Given the description of an element on the screen output the (x, y) to click on. 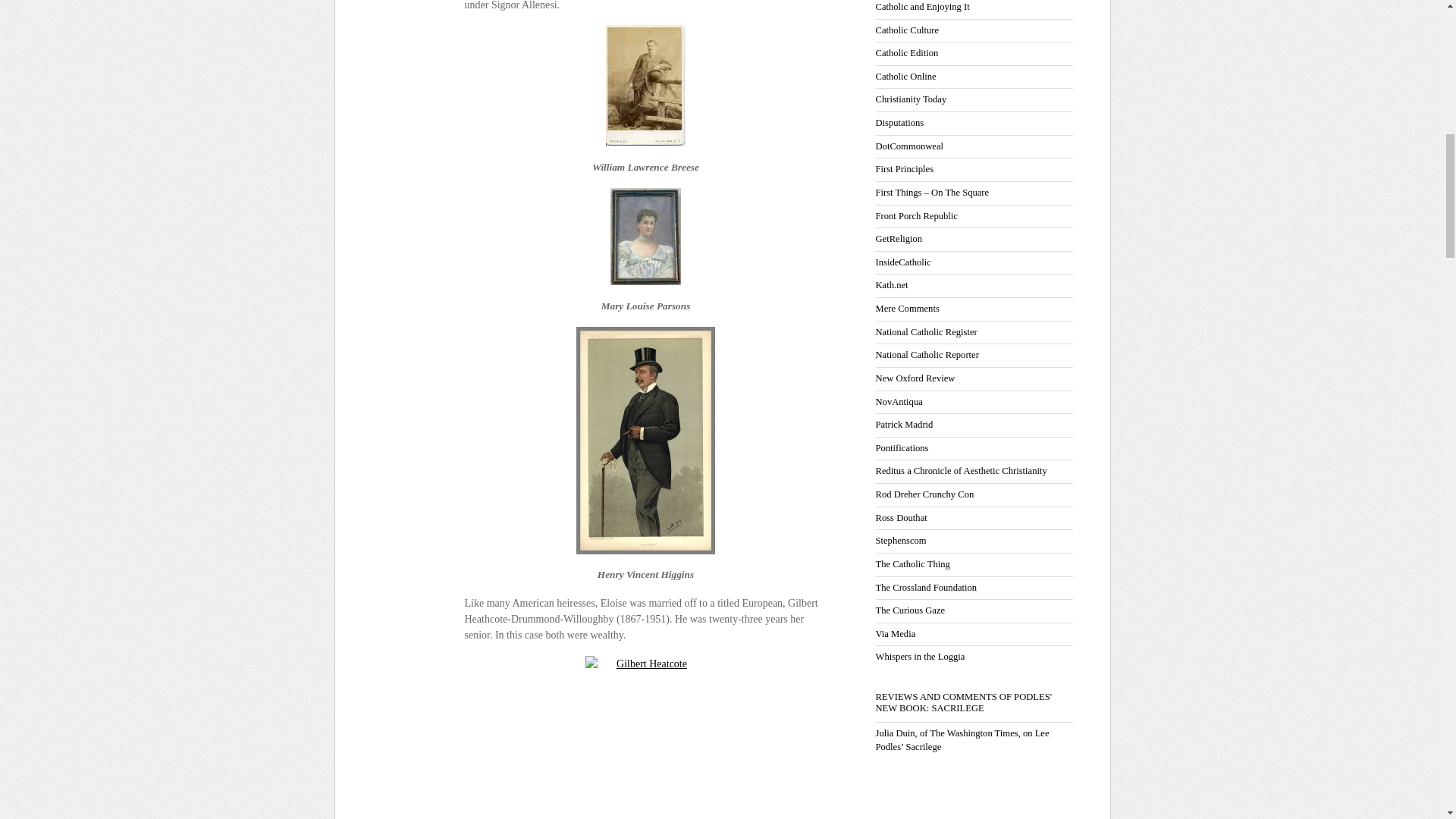
Catholic Online News. Inform. Inspire. Ignite. (905, 76)
A blog run by John da Fiesole   (899, 122)
Online Catholic news source (906, 52)
